Given the description of an element on the screen output the (x, y) to click on. 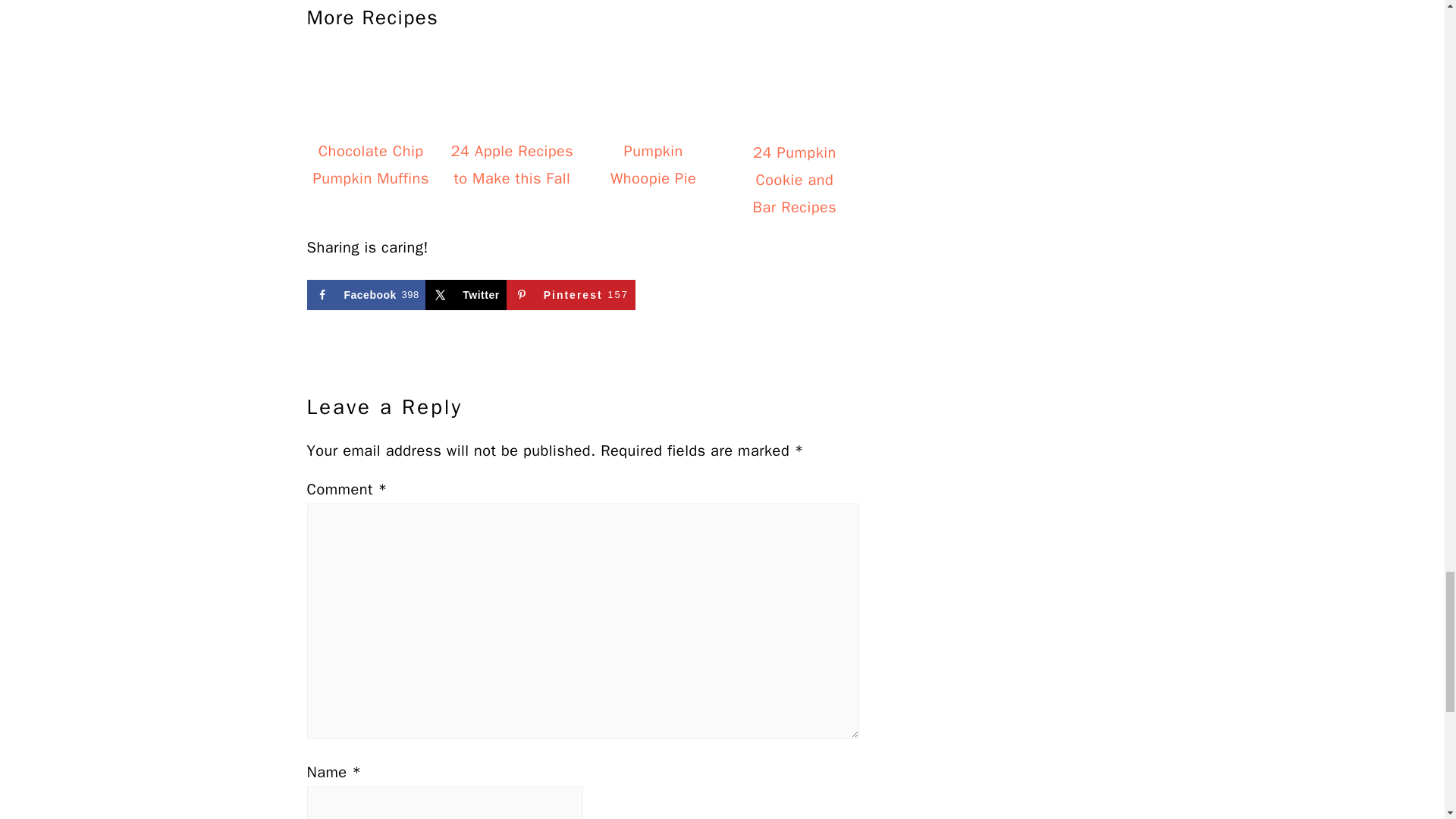
Share on Facebook (365, 295)
Save to Pinterest (570, 295)
Share on X (465, 295)
